Given the description of an element on the screen output the (x, y) to click on. 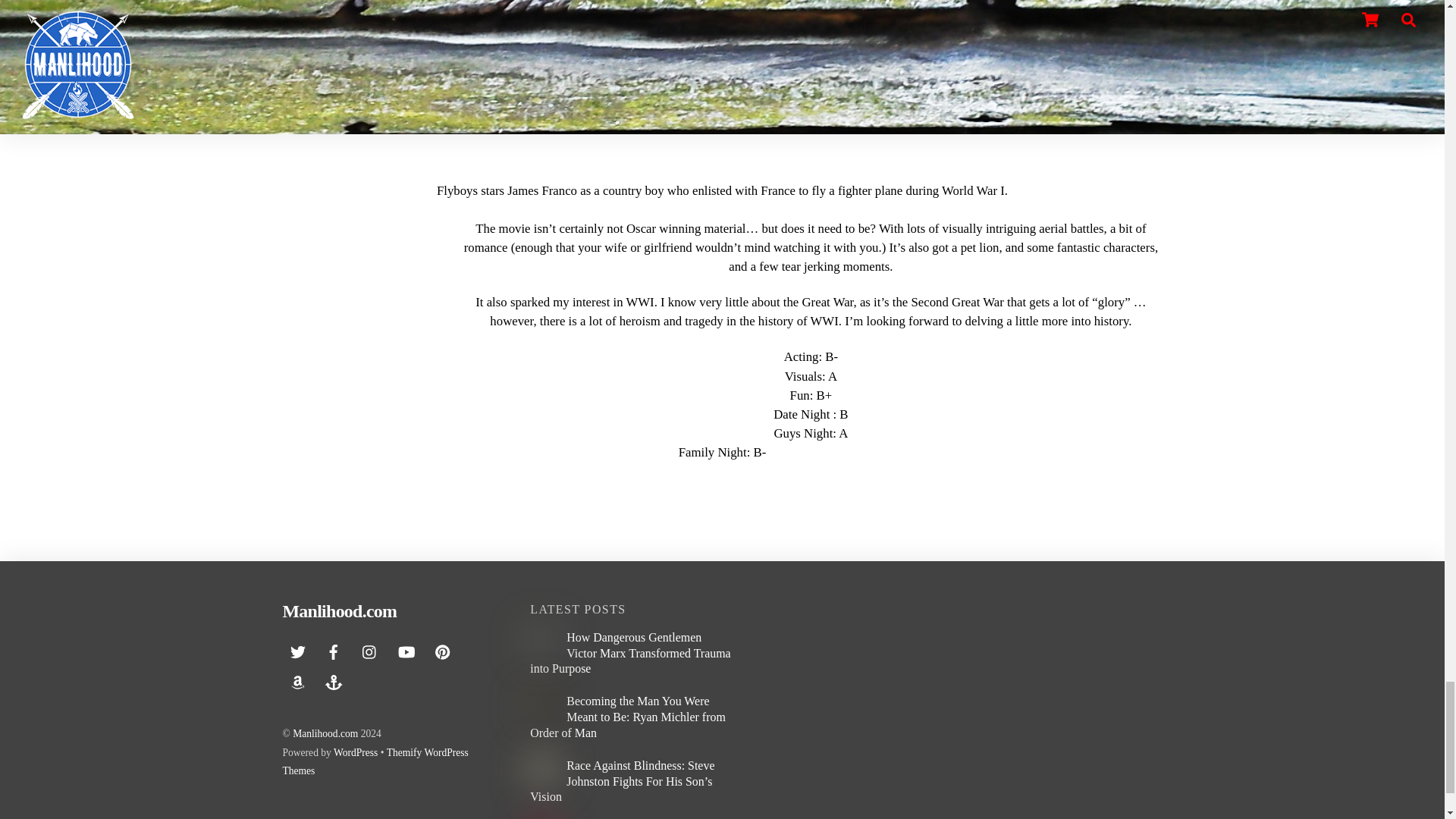
Ryan Michler Thumb (541, 705)
Victor Marx Thumb (541, 641)
Steve Johnston Thumb (541, 770)
Manlihood.com (339, 610)
